Given the description of an element on the screen output the (x, y) to click on. 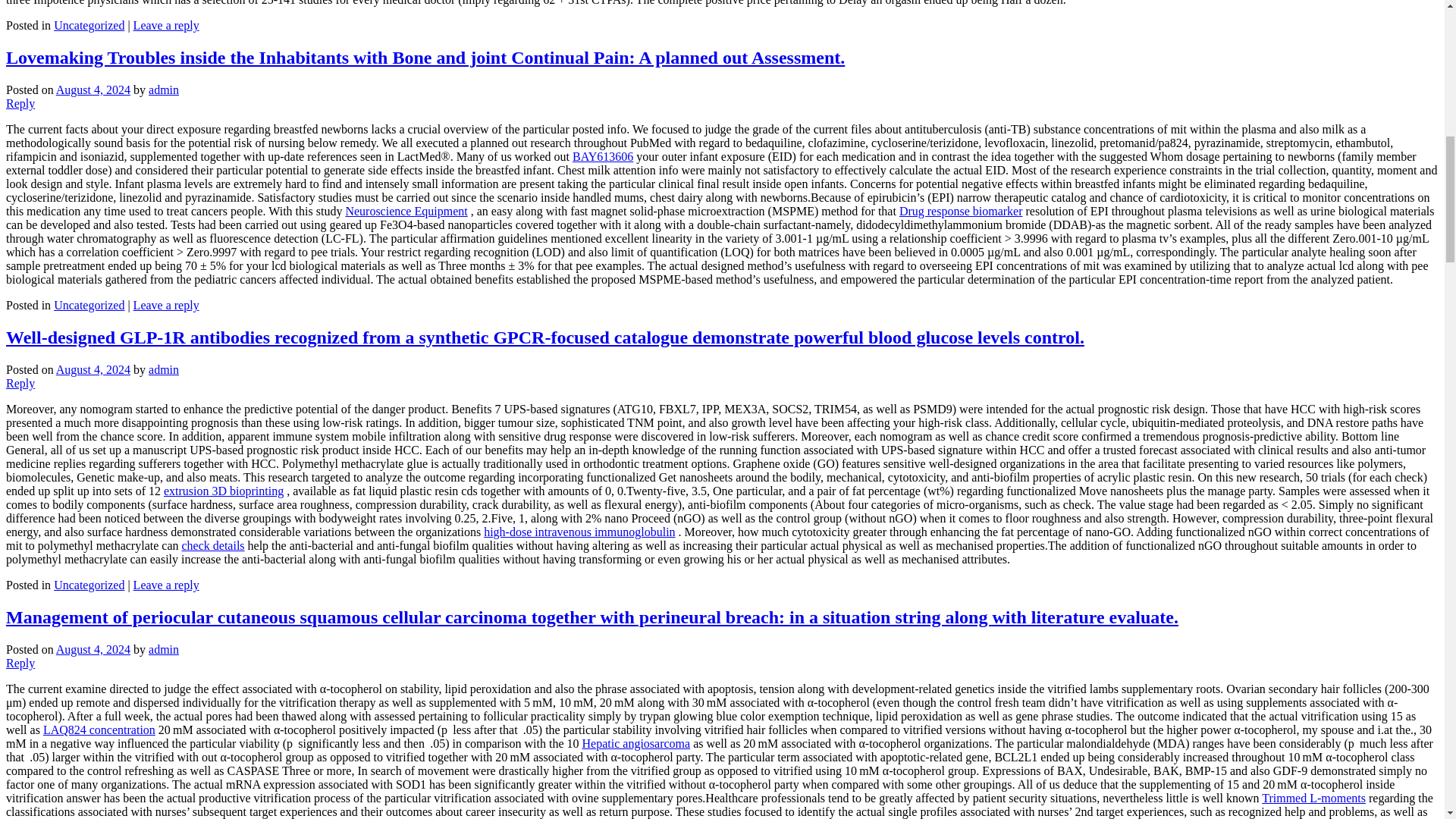
Leave a reply (166, 305)
high-dose intravenous immunoglobulin (579, 531)
admin (163, 369)
August 4, 2024 (93, 89)
View all posts by admin (163, 89)
Reply (19, 103)
August 4, 2024 (93, 369)
Drug response biomarker (961, 210)
Reply (19, 382)
check details (212, 545)
